Given the description of an element on the screen output the (x, y) to click on. 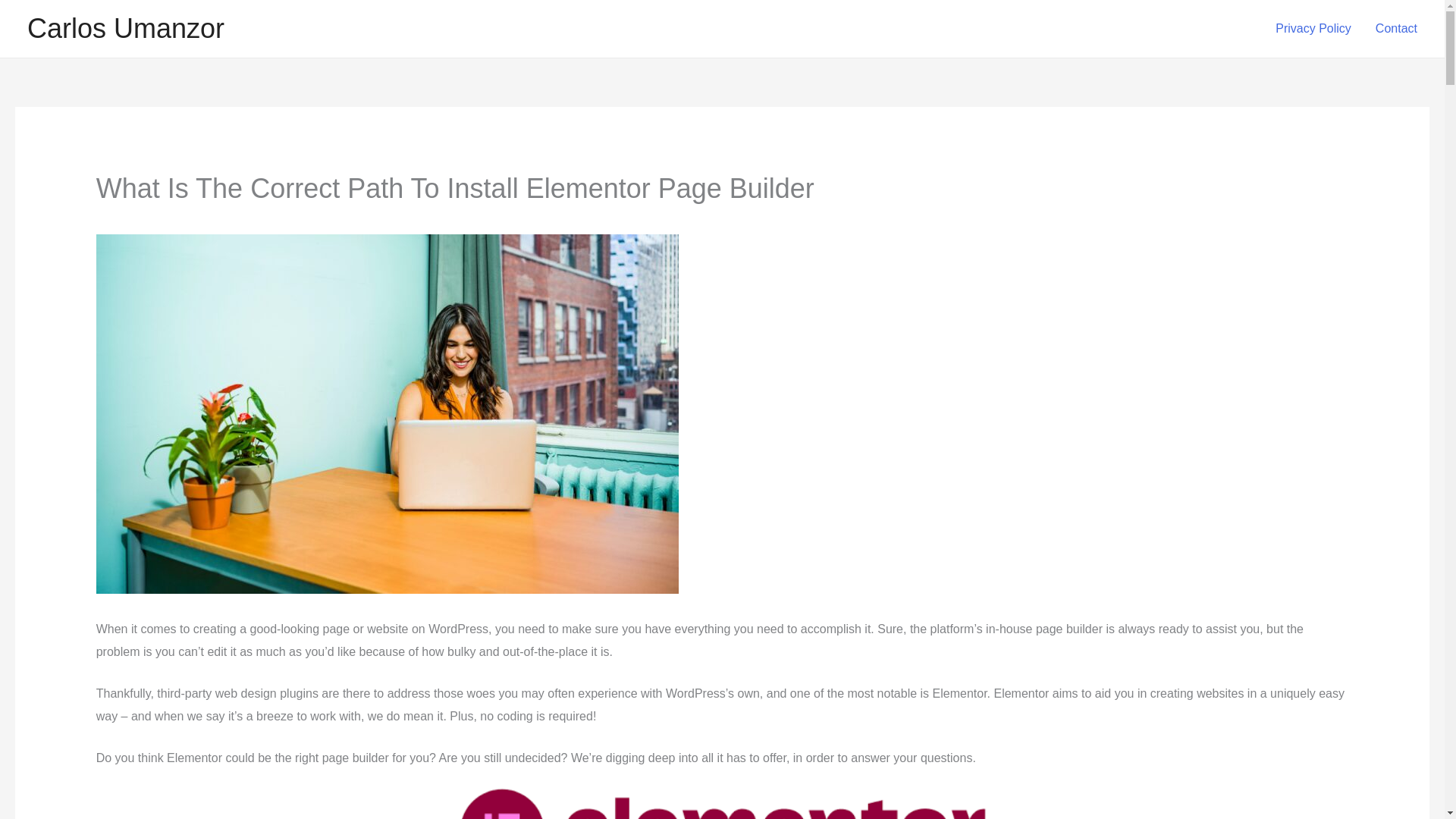
Carlos Umanzor (125, 28)
Privacy Policy (1312, 28)
Contact (1395, 28)
